Given the description of an element on the screen output the (x, y) to click on. 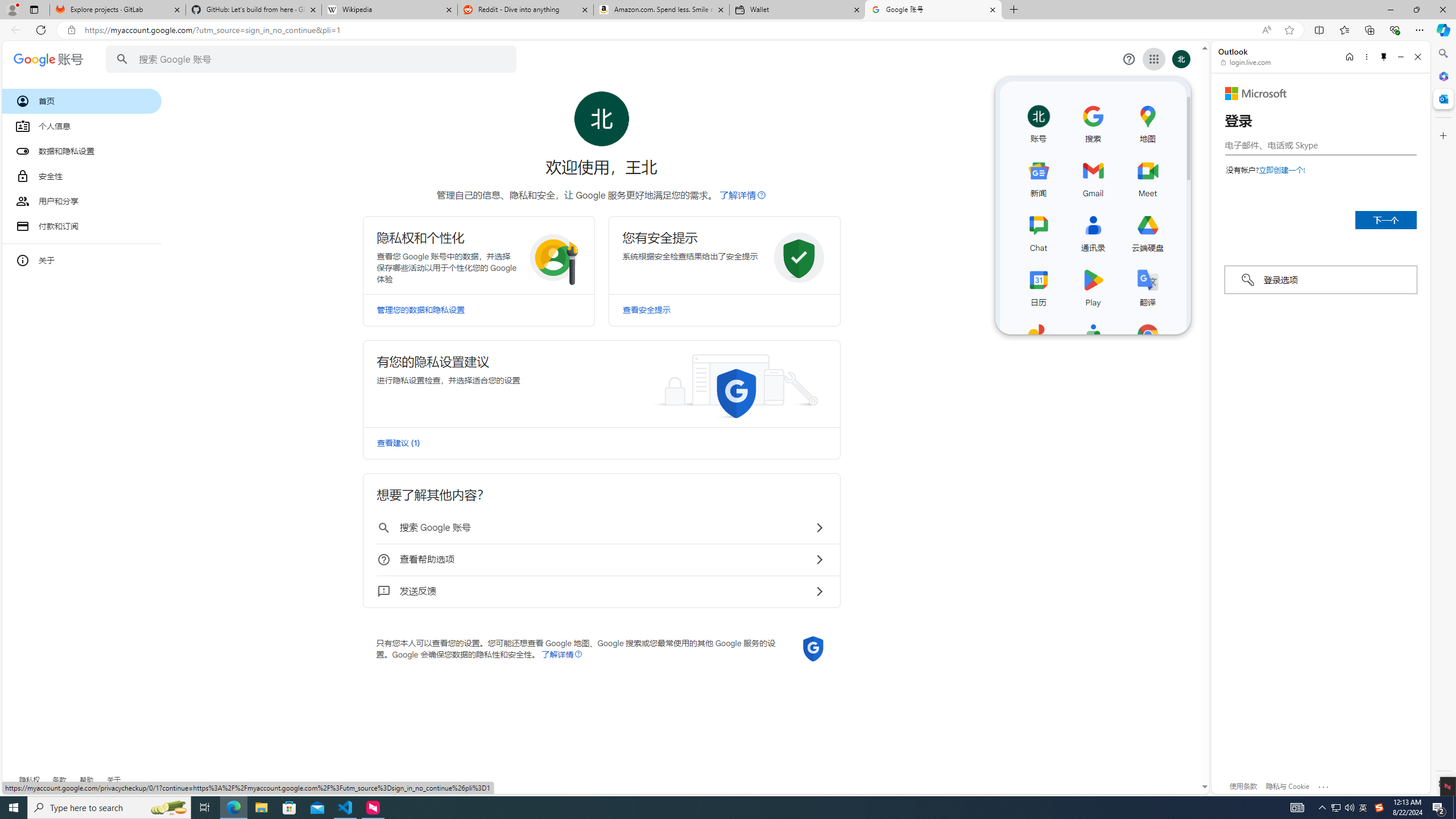
Chrome (1147, 340)
Play (1093, 285)
Class: RlFDUe N5YmOc kJXJmd bvW4md I6g62c (601, 383)
